Given the description of an element on the screen output the (x, y) to click on. 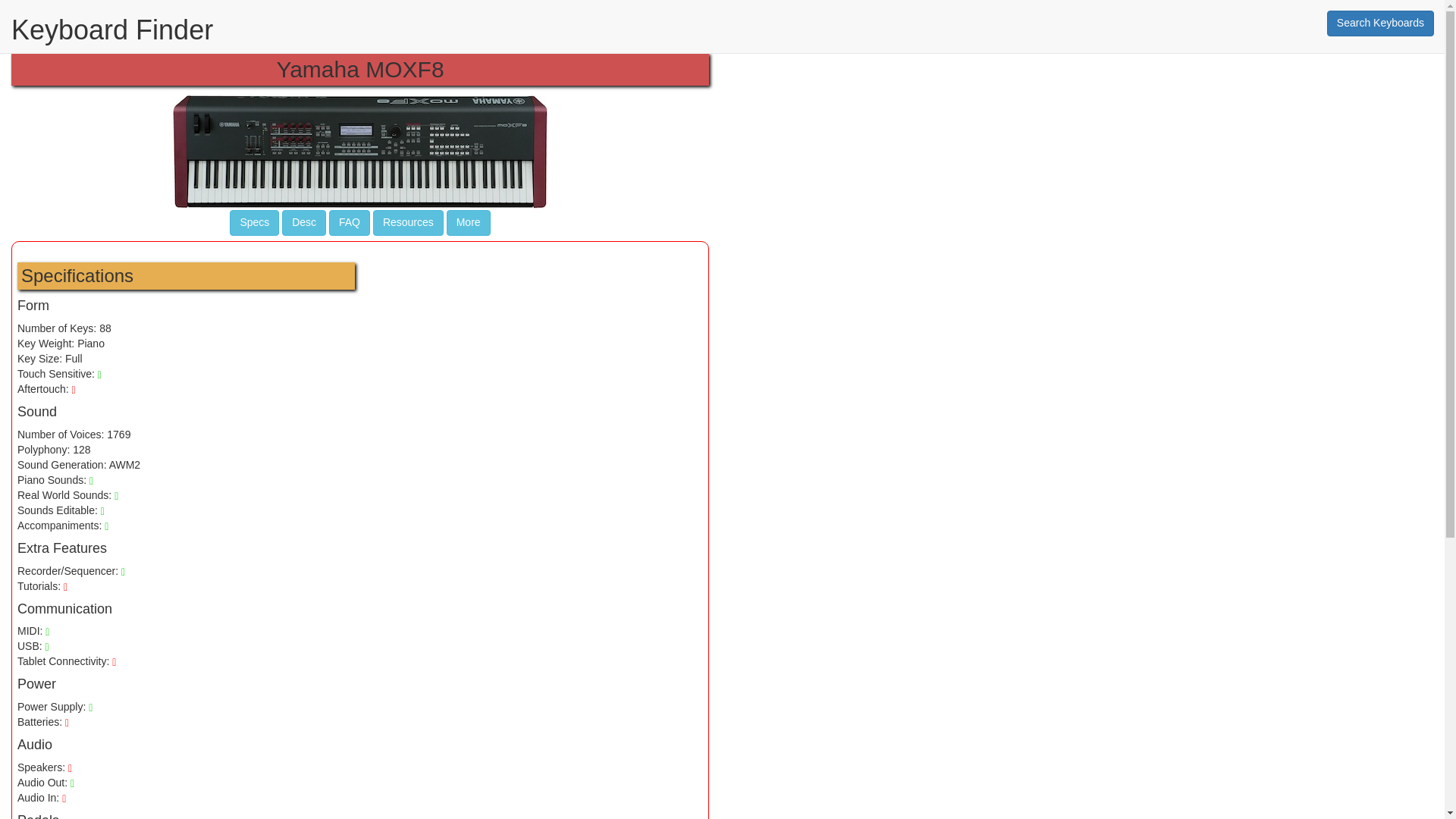
Resources (408, 222)
Desc (304, 222)
FAQ (349, 222)
Specs (254, 222)
More (468, 222)
